Given the description of an element on the screen output the (x, y) to click on. 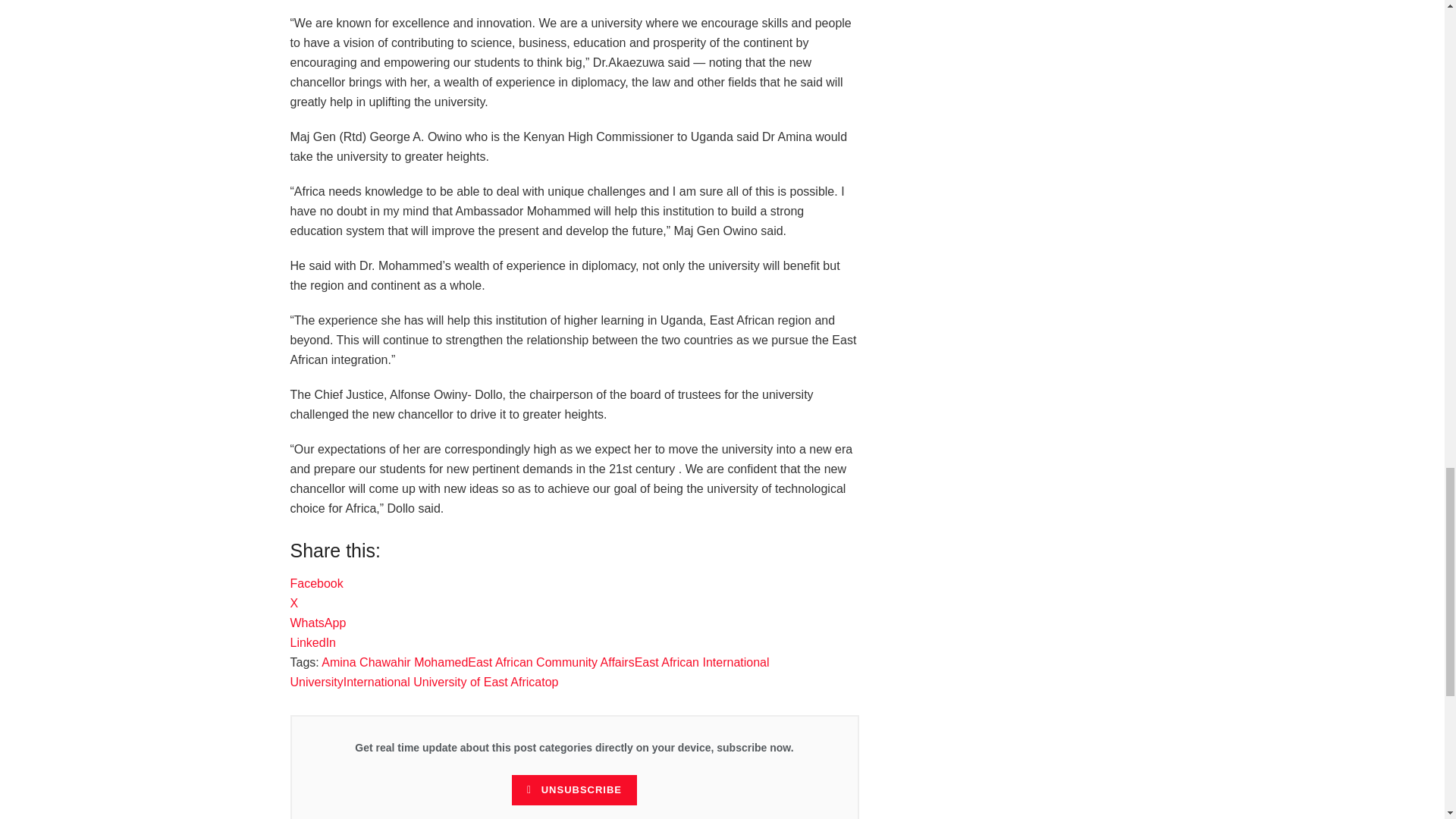
Click to share on Facebook (315, 583)
Click to share on LinkedIn (312, 642)
Click to share on WhatsApp (317, 622)
